Given the description of an element on the screen output the (x, y) to click on. 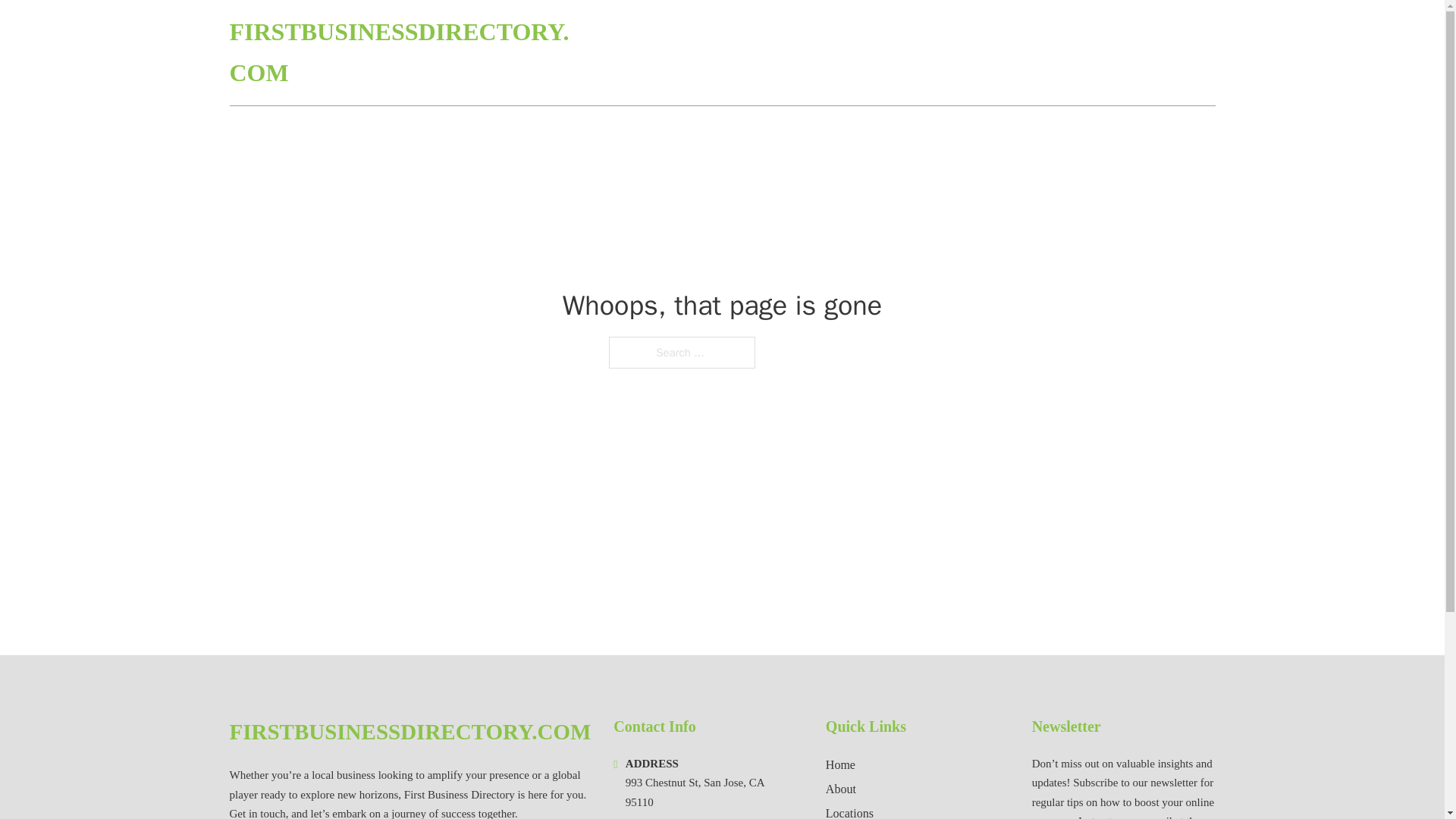
Locations (849, 811)
LOCATIONS (1105, 53)
FIRSTBUSINESSDIRECTORY.COM (409, 732)
About (840, 788)
HOME (1032, 53)
Home (840, 764)
FIRSTBUSINESSDIRECTORY.COM (400, 52)
